Given the description of an element on the screen output the (x, y) to click on. 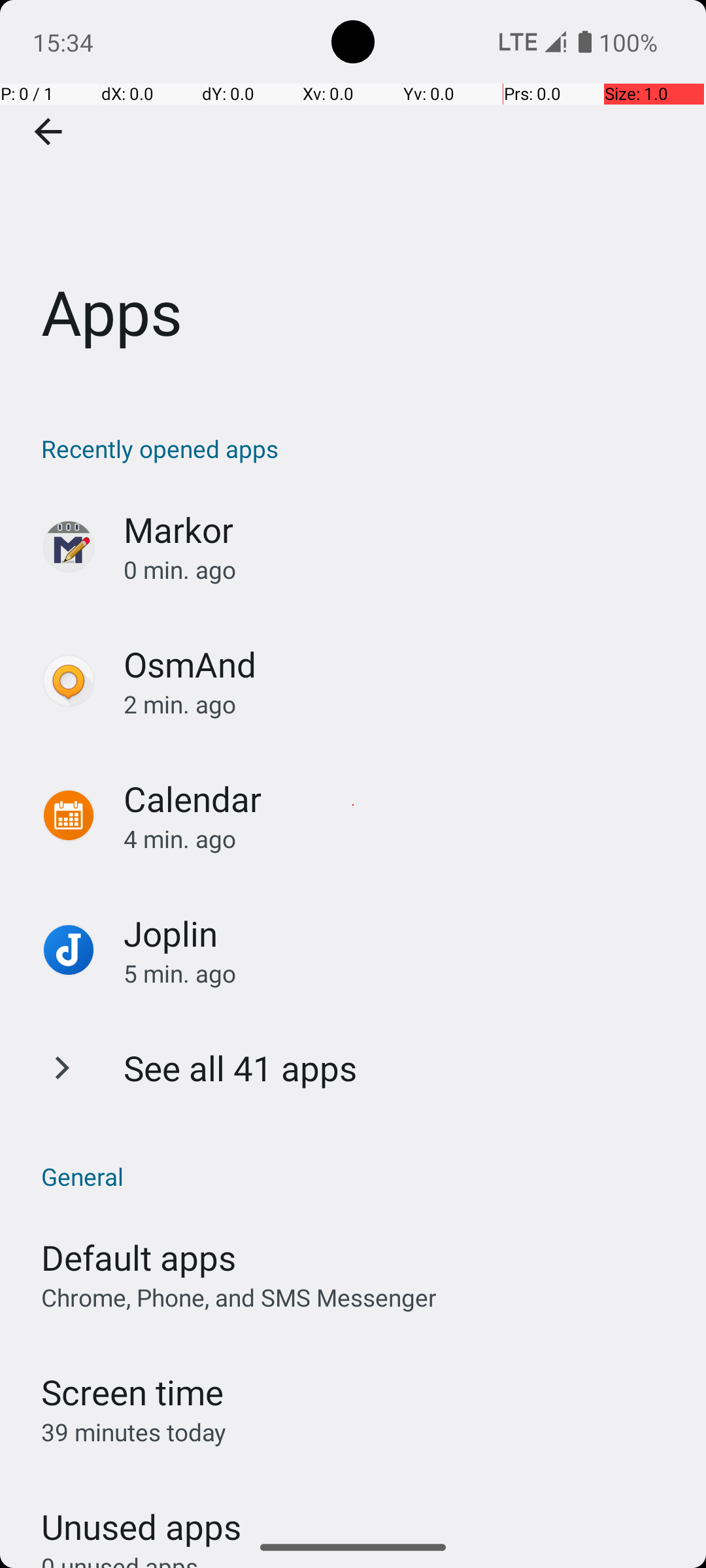
0 min. ago Element type: android.widget.TextView (400, 569)
4 min. ago Element type: android.widget.TextView (400, 838)
5 min. ago Element type: android.widget.TextView (400, 972)
39 minutes today Element type: android.widget.TextView (133, 1431)
